Given the description of an element on the screen output the (x, y) to click on. 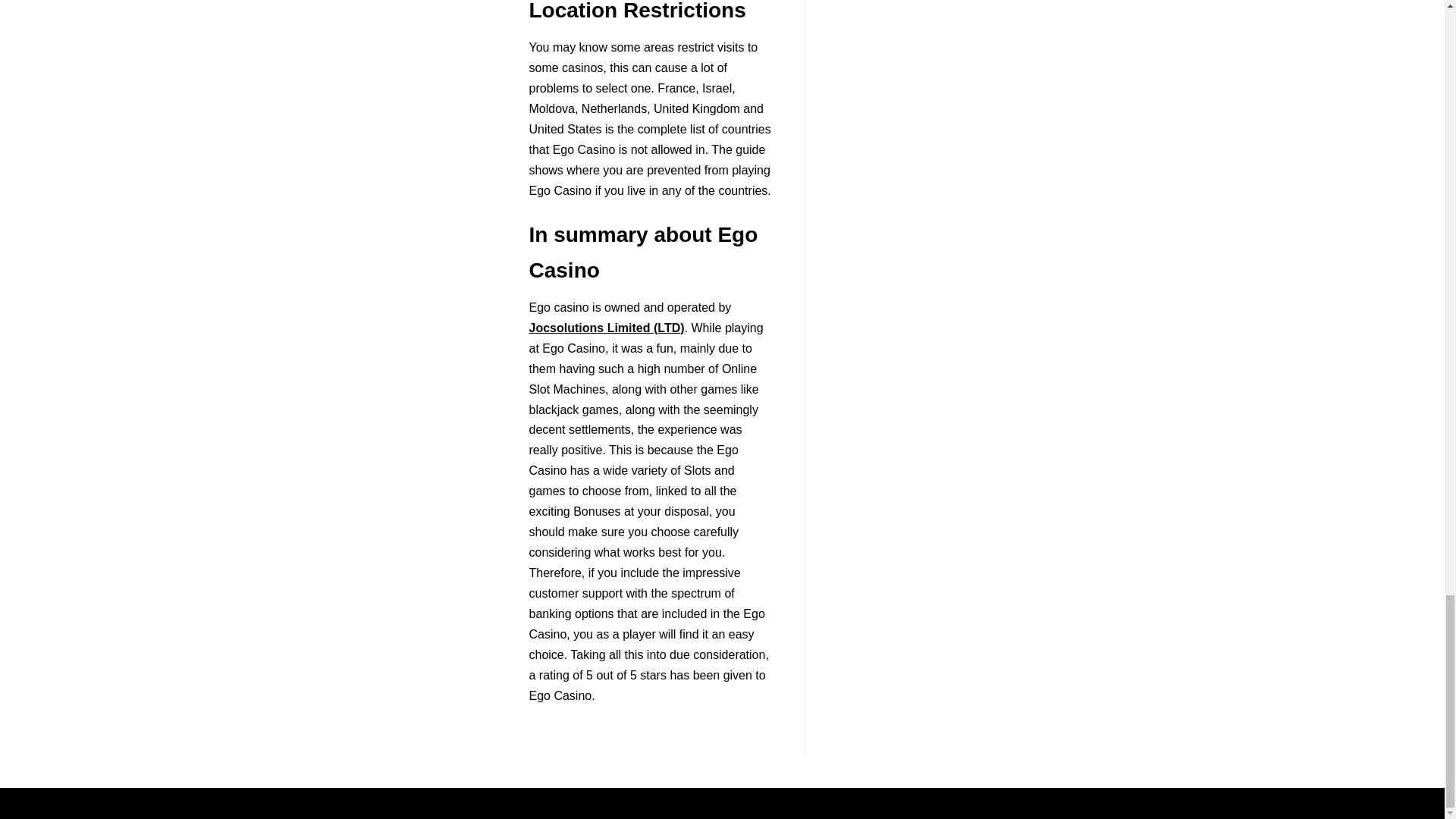
WordPress (775, 802)
Neve (652, 802)
Jocsolutions Limited casinos (606, 327)
